Given the description of an element on the screen output the (x, y) to click on. 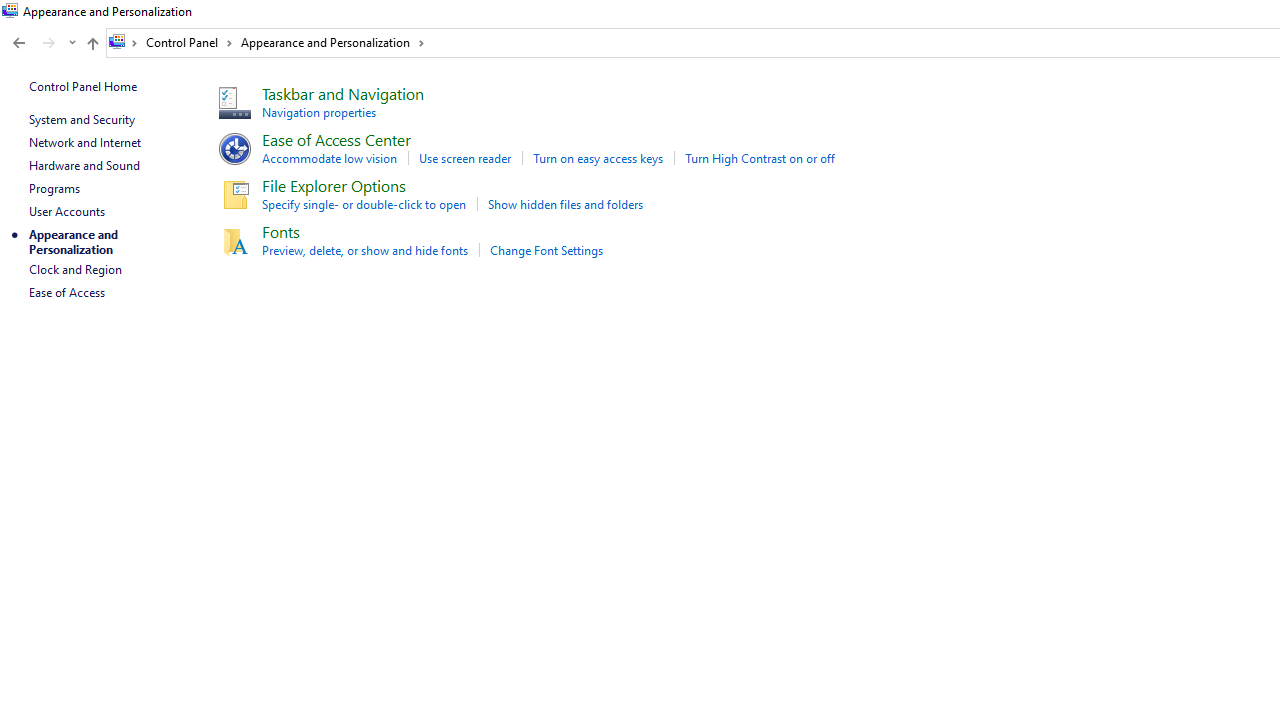
Network and Internet (84, 142)
Show hidden files and folders (565, 204)
System and Security (81, 119)
Back to User Accounts (Alt + Left Arrow) (18, 43)
All locations (124, 42)
Recent locations (71, 43)
Ease of Access (66, 292)
Turn High Contrast on or off (760, 158)
Ease of Access Center (336, 138)
Preview, delete, or show and hide fonts (364, 250)
User Accounts (66, 210)
Specify single- or double-click to open (363, 204)
Hardware and Sound (84, 164)
System (10, 11)
Programs (53, 187)
